Given the description of an element on the screen output the (x, y) to click on. 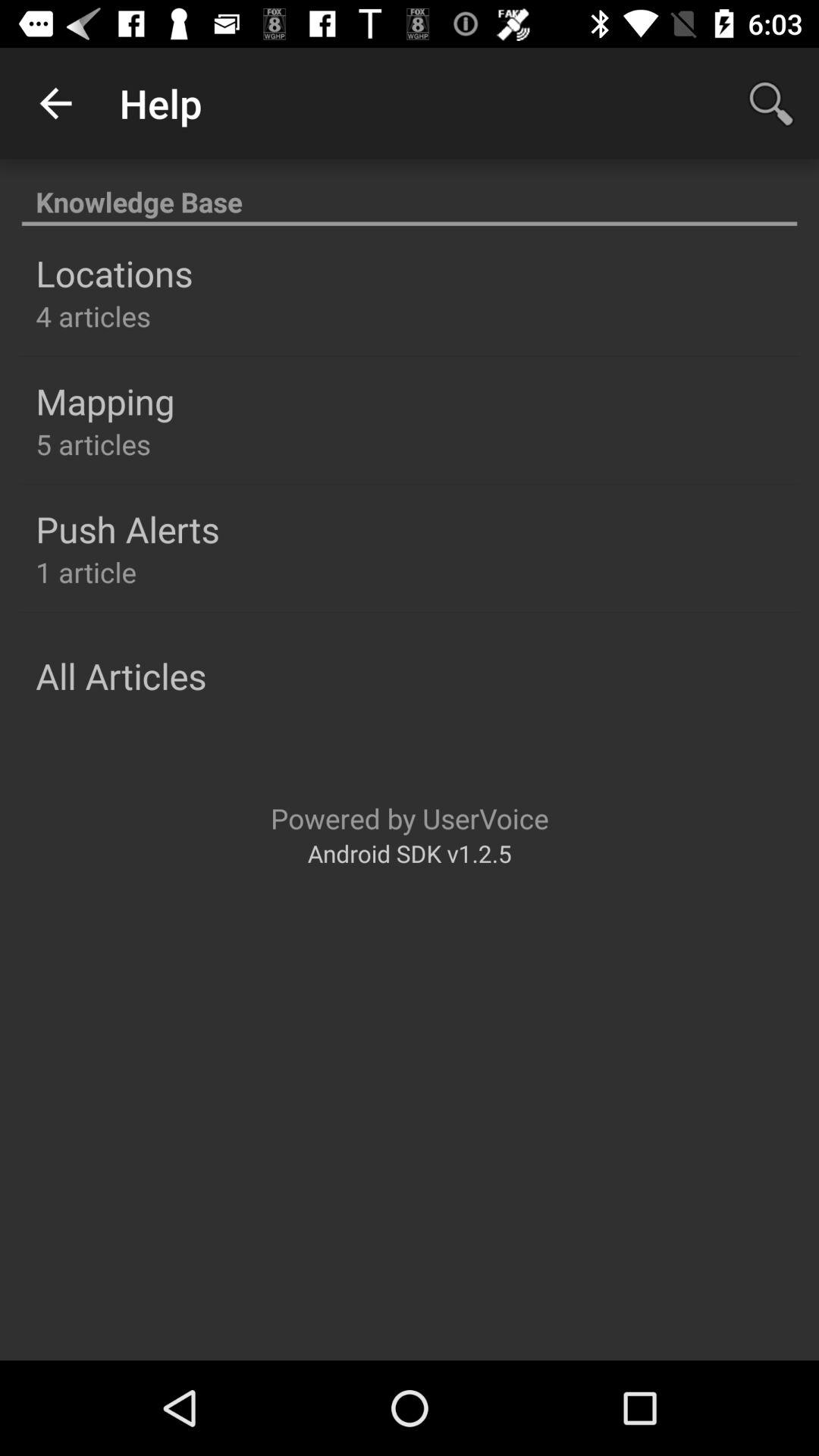
select icon above 1 article icon (127, 529)
